Given the description of an element on the screen output the (x, y) to click on. 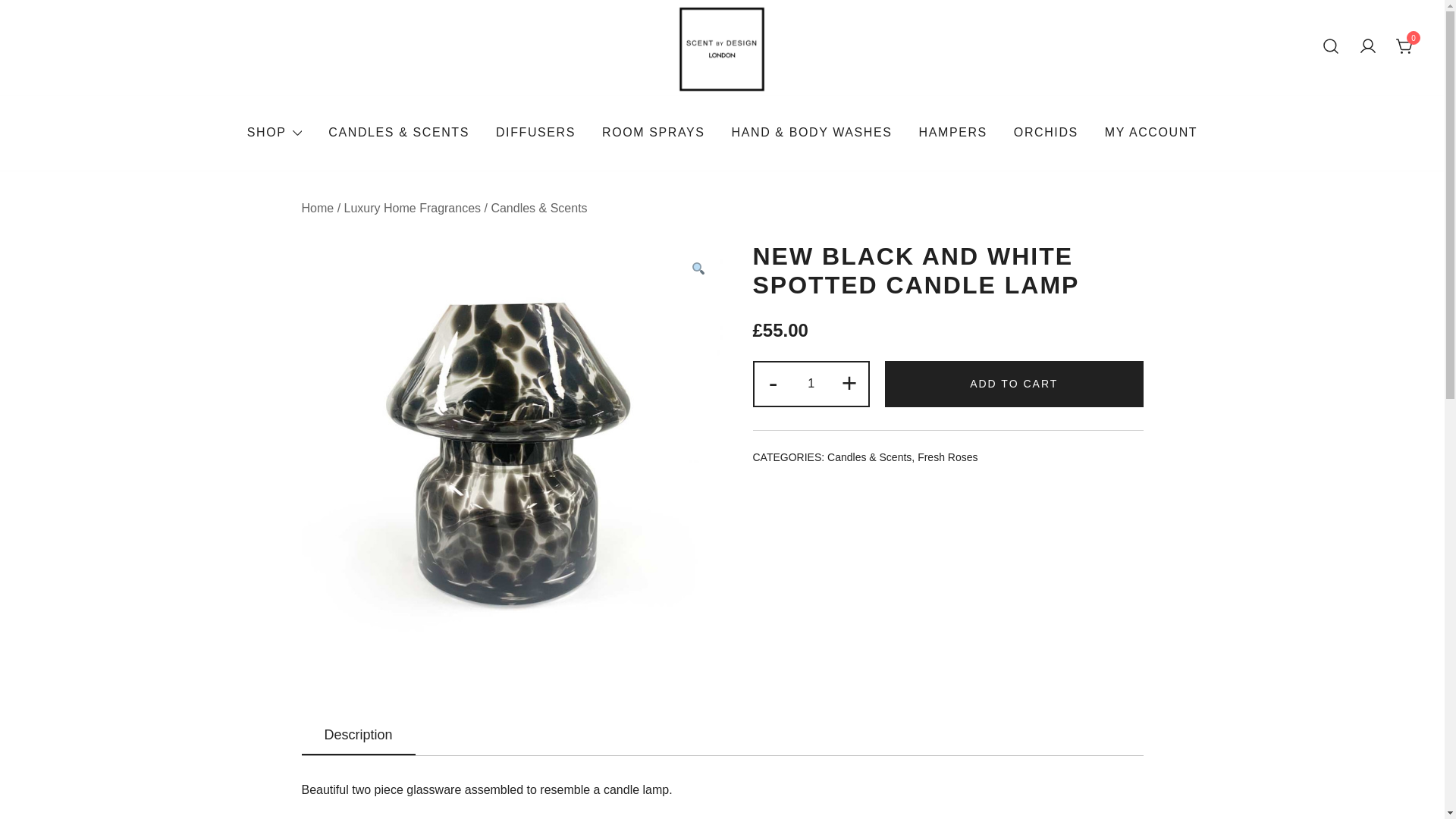
Home (317, 207)
ROOM SPRAYS (653, 132)
SHOP (266, 132)
0 (1404, 46)
Luxury Home Fragrances (412, 207)
MY ACCOUNT (1150, 132)
0 (1404, 46)
View your shopping cart (1404, 46)
HAMPERS (952, 132)
DIFFUSERS (535, 132)
ORCHIDS (1045, 132)
